Given the description of an element on the screen output the (x, y) to click on. 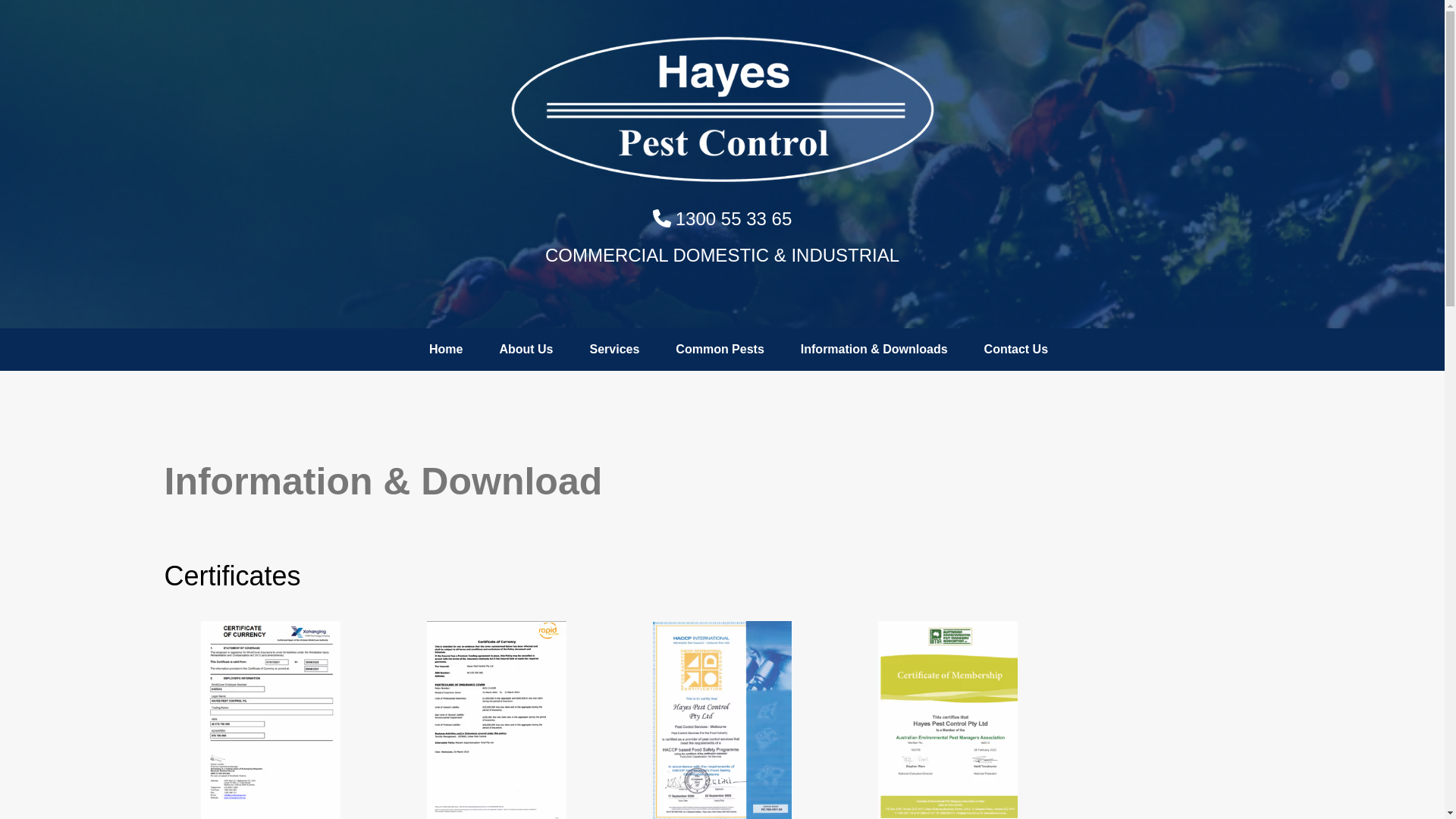
Information & Downloads Element type: text (873, 349)
About Us Element type: text (525, 349)
Common Pests Element type: text (719, 349)
Contact Us Element type: text (1016, 349)
1300 55 33 65 Element type: text (721, 218)
Home Element type: text (445, 349)
Services Element type: text (614, 349)
